Given the description of an element on the screen output the (x, y) to click on. 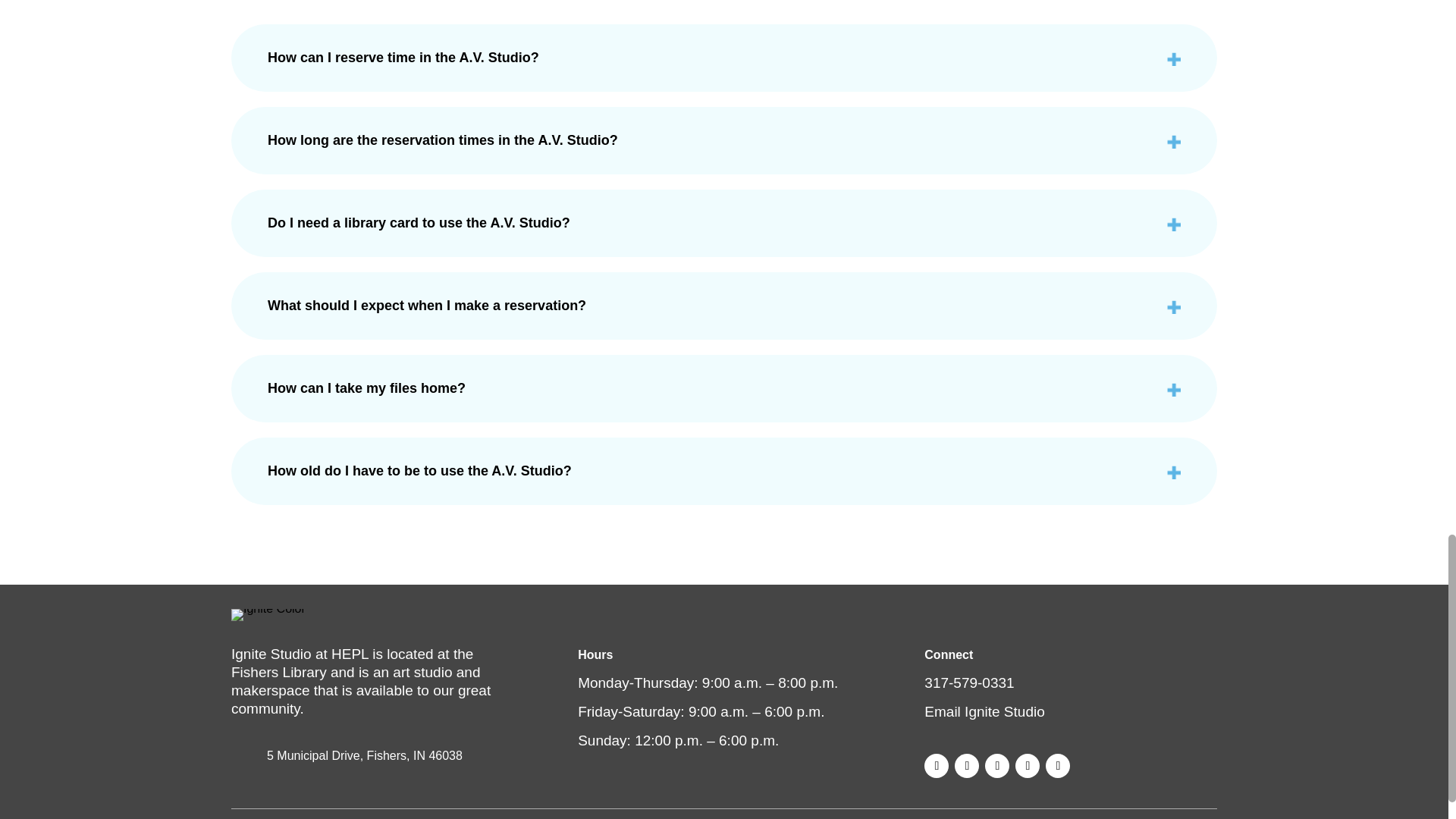
Ignite Color Reverse (268, 614)
Email Ignite Studio (983, 711)
Follow on Youtube (1026, 765)
Follow on LinkedIn (1057, 765)
Follow on X (997, 765)
Follow on Instagram (966, 765)
317-579-0331 (968, 682)
Follow on Facebook (936, 765)
